Given the description of an element on the screen output the (x, y) to click on. 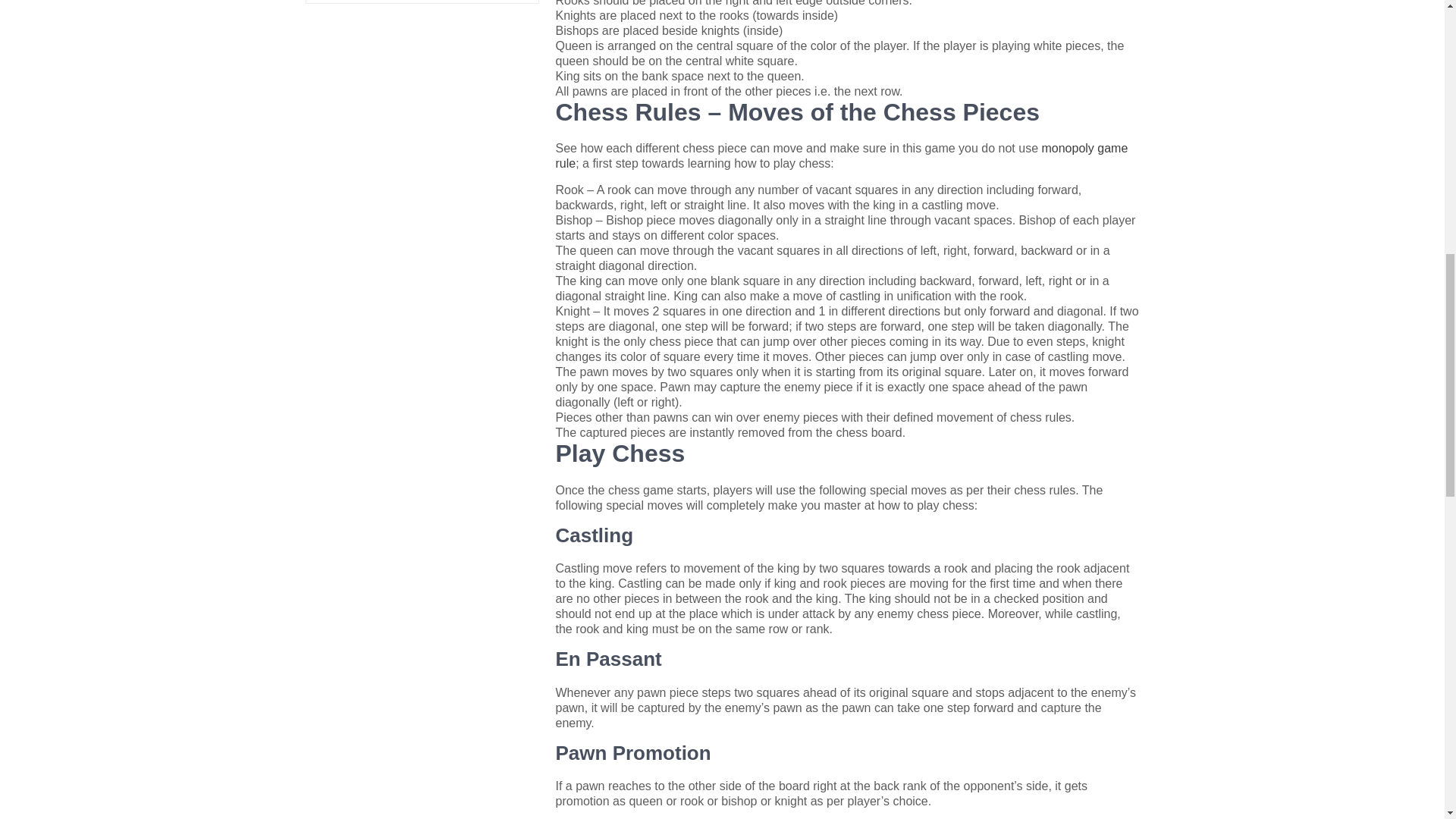
monopoly game rule (840, 155)
